Given the description of an element on the screen output the (x, y) to click on. 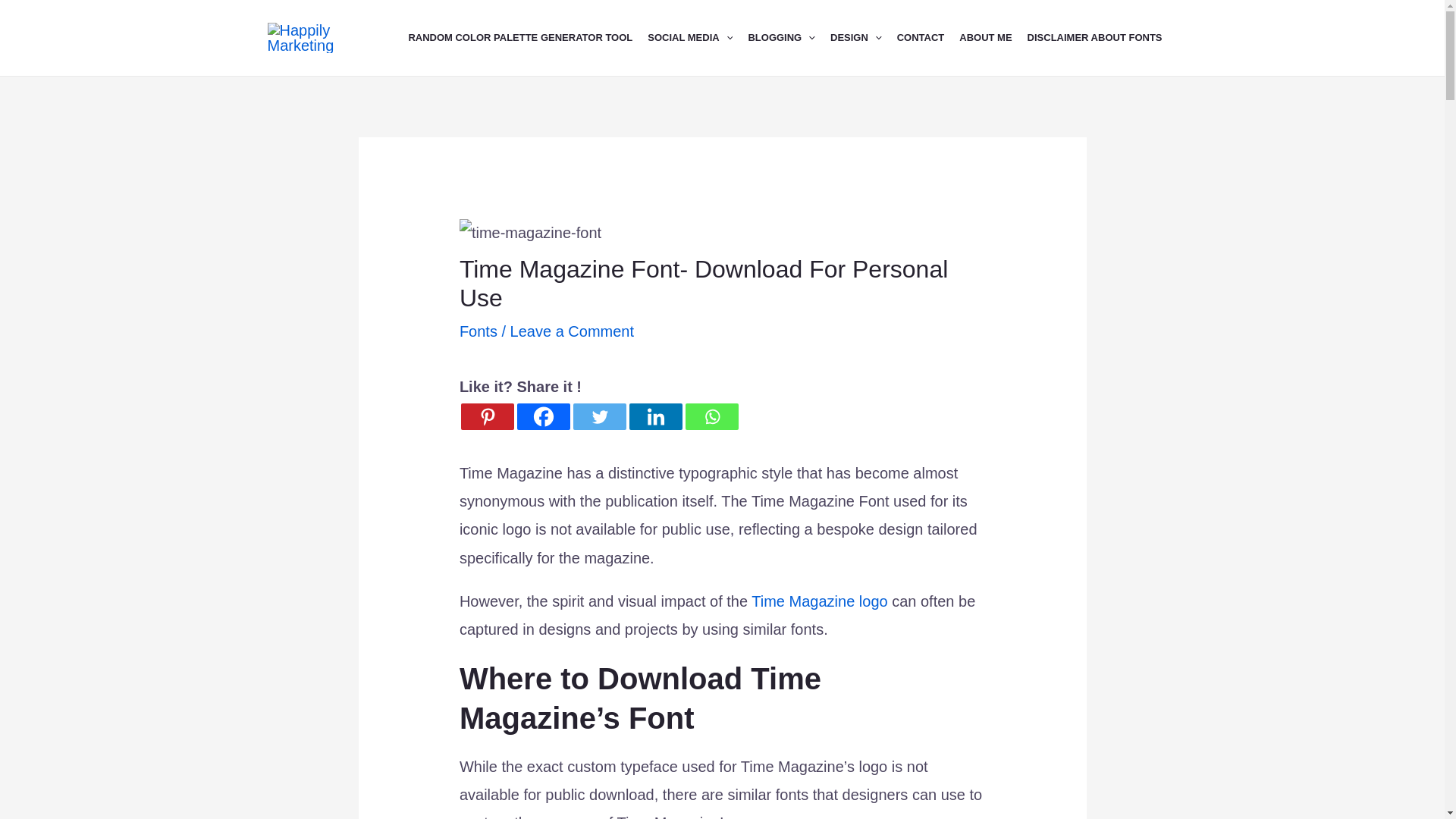
Twitter (599, 416)
RANDOM COLOR PALETTE GENERATOR TOOL (527, 38)
ABOUT ME (992, 38)
Pinterest (487, 416)
Whatsapp (711, 416)
Facebook (543, 416)
Linkedin (655, 416)
SOCIAL MEDIA (697, 38)
Time Magazine Font- Download For Personal Use 2 (530, 233)
DISCLAIMER ABOUT FONTS (1102, 38)
